Given the description of an element on the screen output the (x, y) to click on. 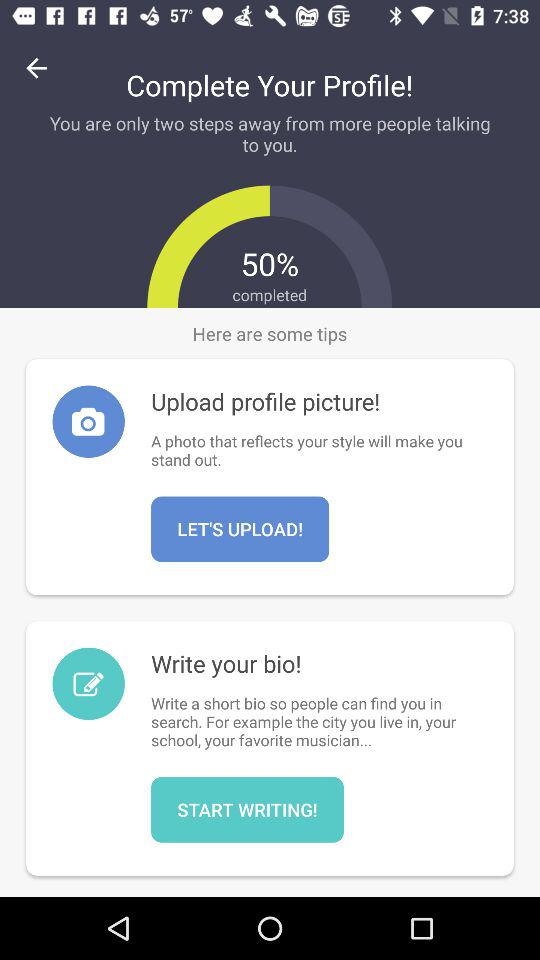
click item next to the complete your profile! icon (36, 68)
